Given the description of an element on the screen output the (x, y) to click on. 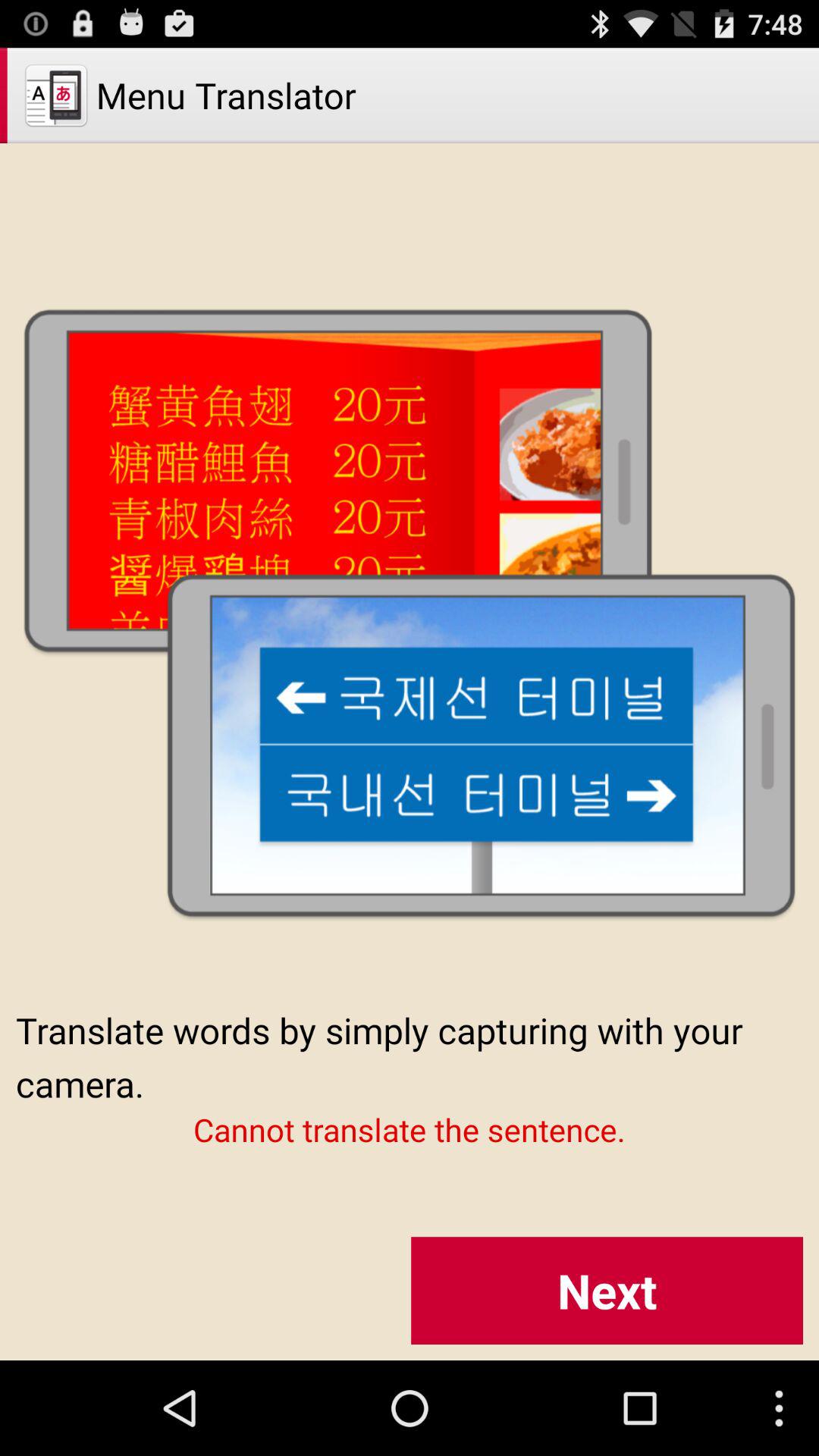
open button at the bottom right corner (607, 1290)
